Given the description of an element on the screen output the (x, y) to click on. 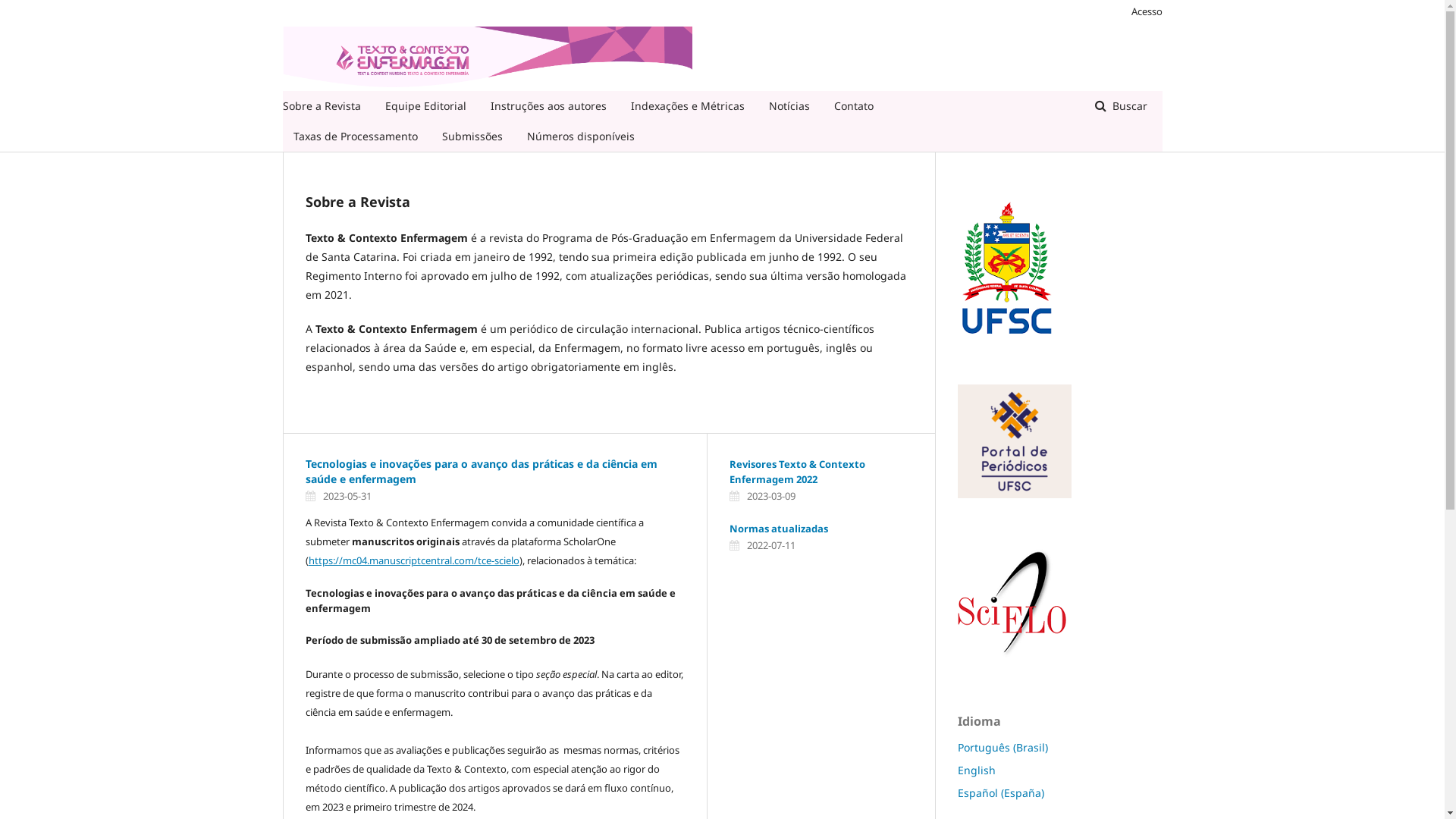
Acesso Element type: text (1142, 11)
Contato Element type: text (853, 106)
Equipe Editorial Element type: text (425, 106)
Sobre a Revista Element type: text (321, 106)
https://mc04.manuscriptcentral.com/tce-scielo Element type: text (412, 560)
Revisores Texto & Contexto Enfermagem 2022 Element type: text (797, 471)
Buscar Element type: text (1120, 106)
English Element type: text (975, 769)
Taxas de Processamento Element type: text (354, 136)
Normas atualizadas Element type: text (778, 528)
